Given the description of an element on the screen output the (x, y) to click on. 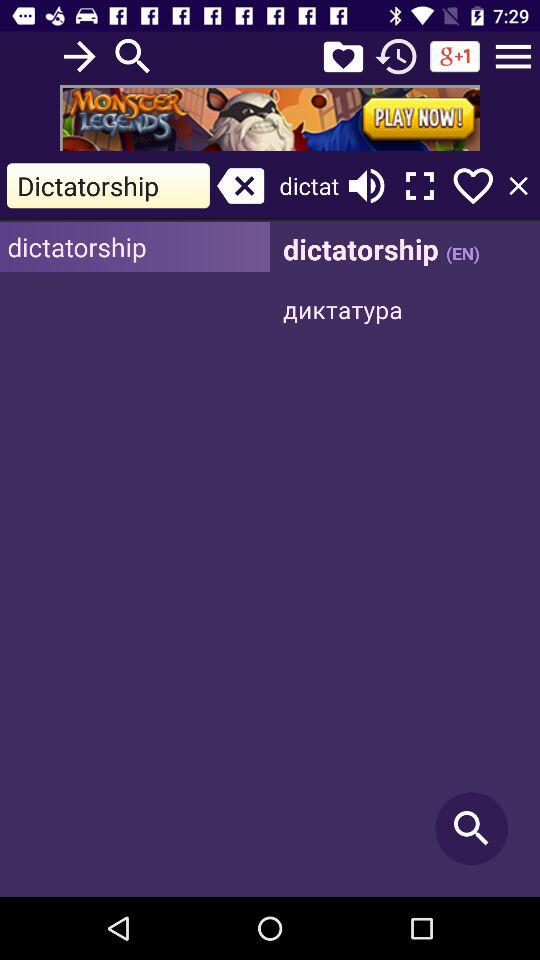
volume button (366, 185)
